Given the description of an element on the screen output the (x, y) to click on. 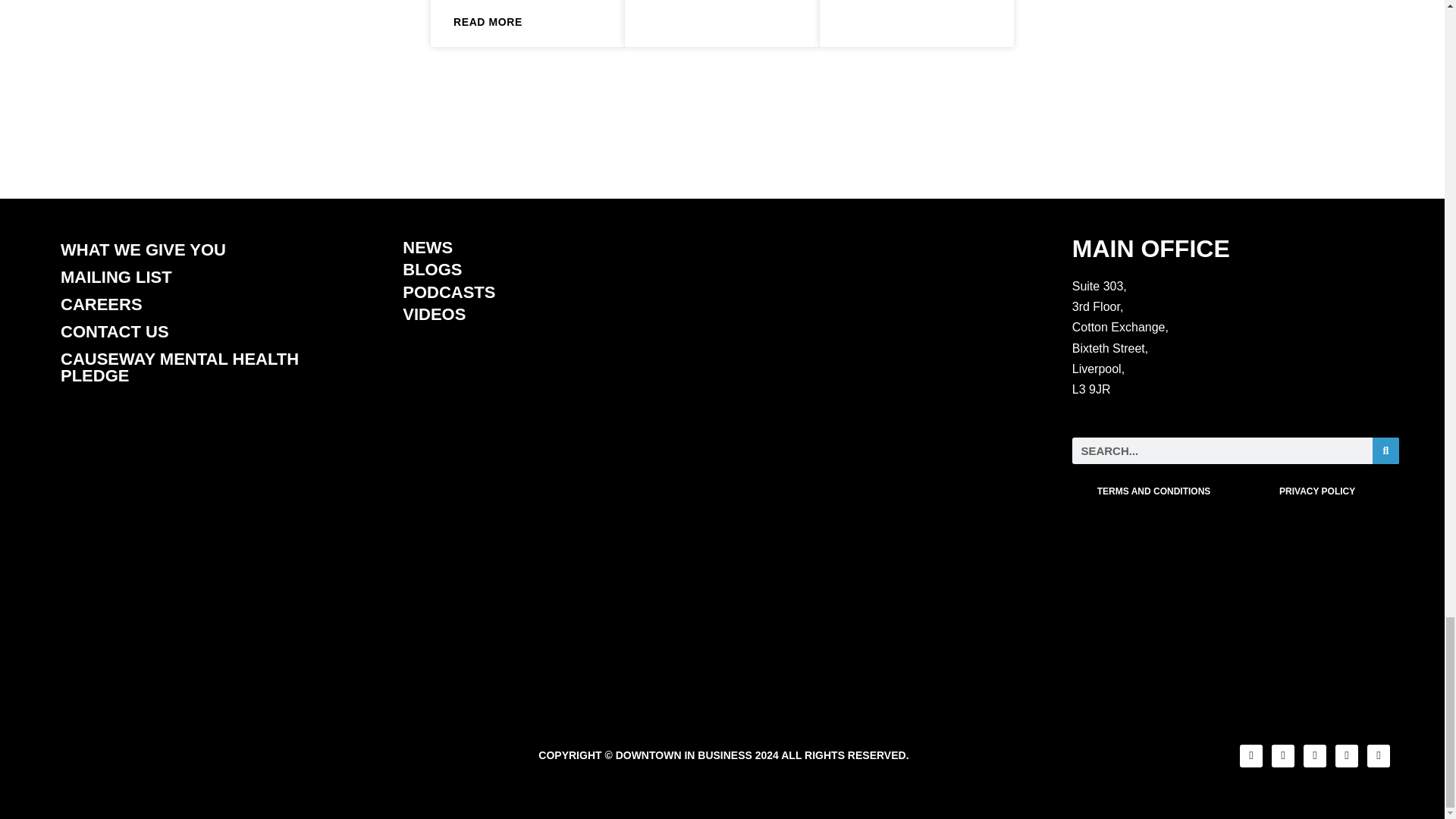
READ MORE (487, 22)
